Given the description of an element on the screen output the (x, y) to click on. 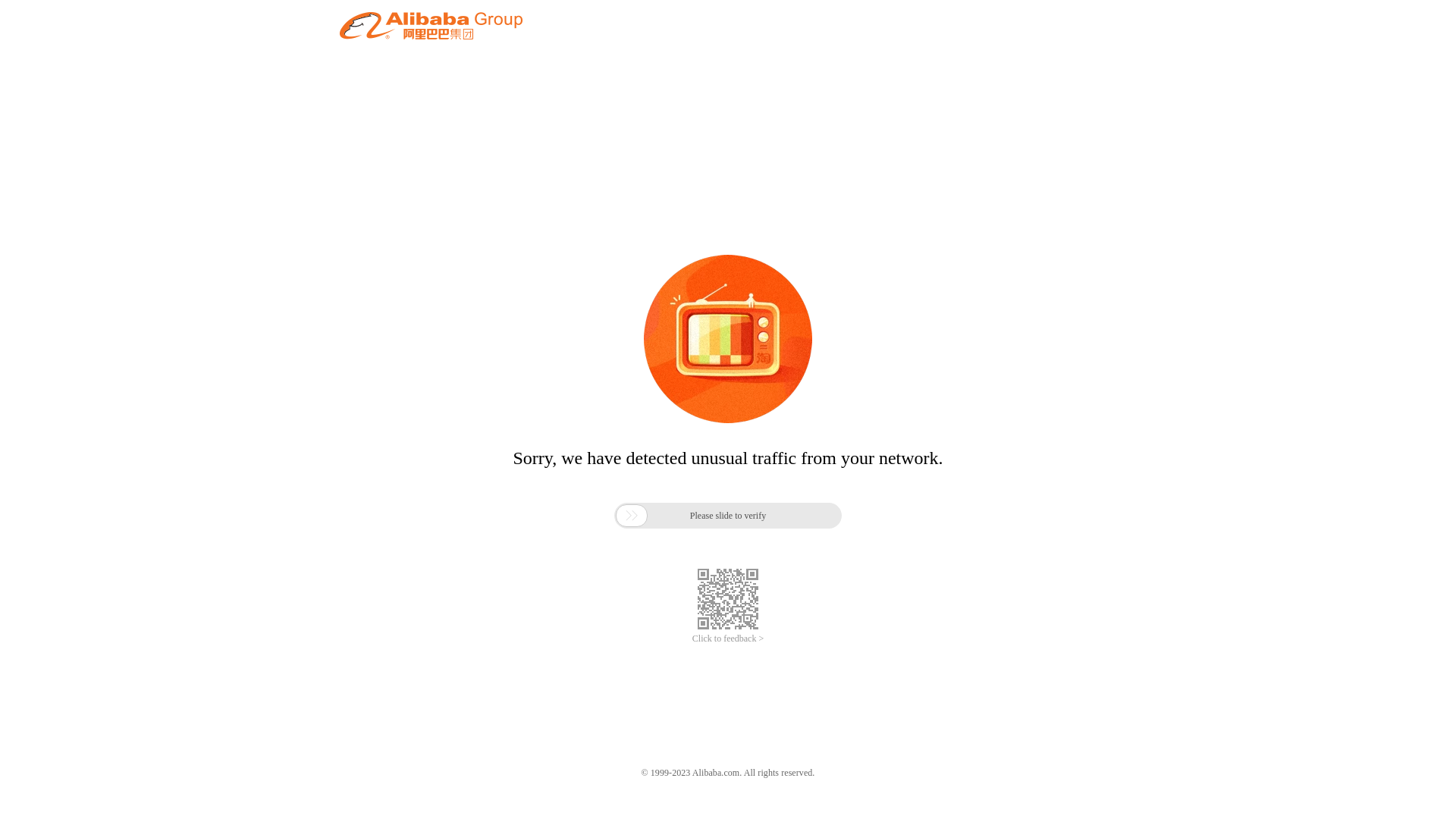
Click to feedback > Element type: text (727, 638)
